Given the description of an element on the screen output the (x, y) to click on. 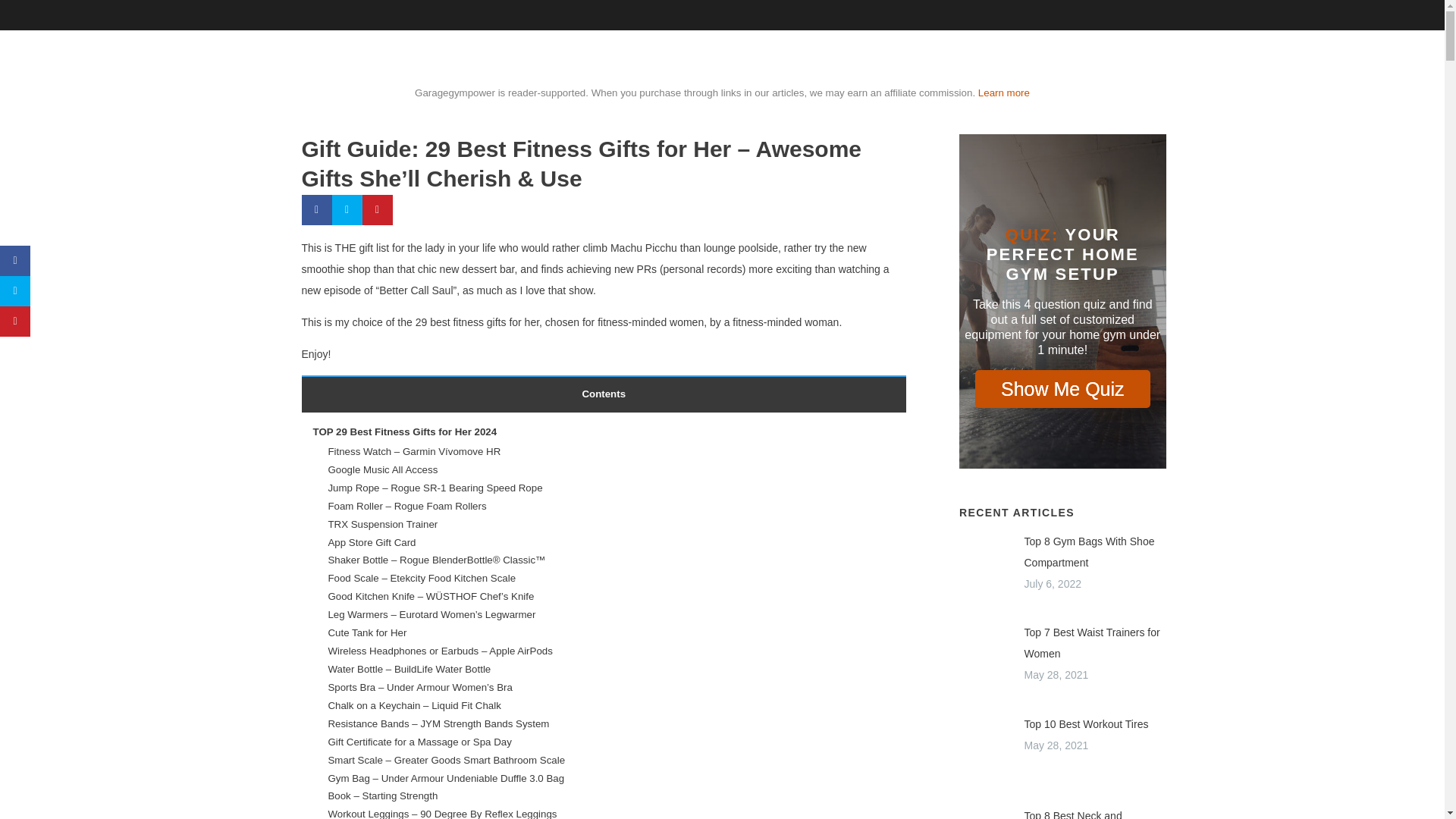
TRX Suspension Trainer (382, 523)
App Store Gift Card (370, 542)
Cute Tank for Her (366, 632)
Learn more (1003, 92)
Google Music All Access (382, 469)
TOP 29 Best Fitness Gifts for Her 2024 (404, 431)
Gift Certificate for a Massage or Spa Day (419, 741)
